Given the description of an element on the screen output the (x, y) to click on. 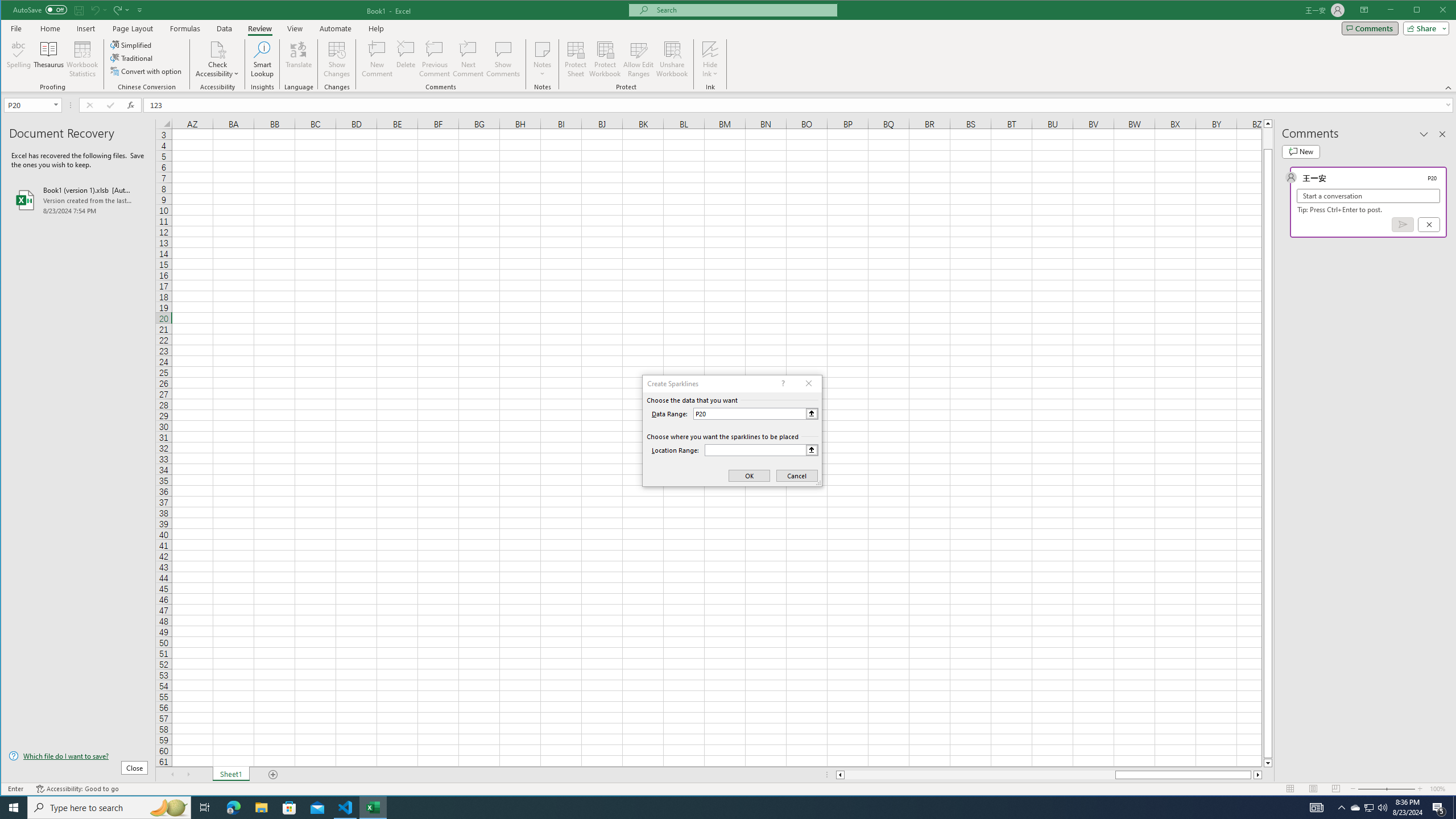
Unshare Workbook (671, 59)
Hide Ink (710, 59)
Check Accessibility (217, 59)
